Given the description of an element on the screen output the (x, y) to click on. 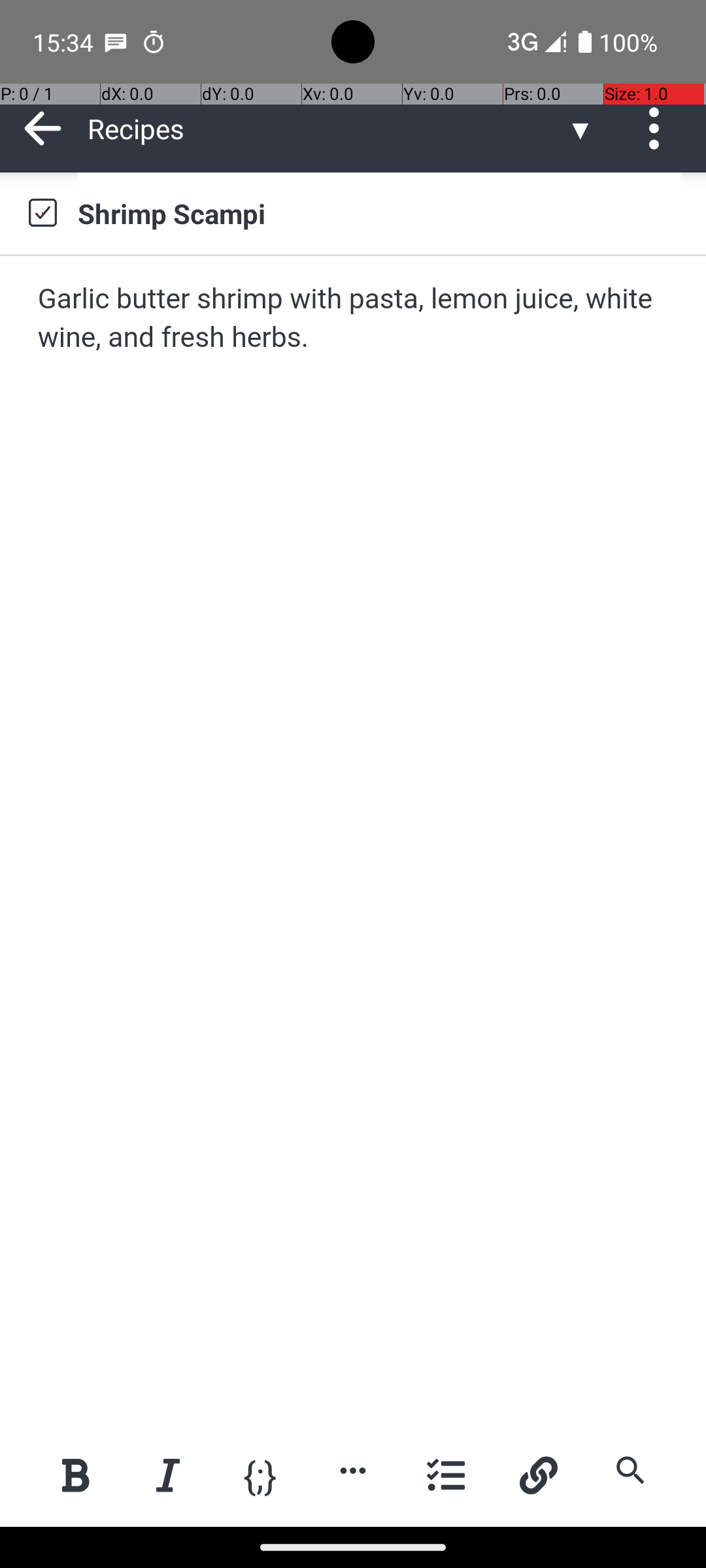
Shrimp Scampi Element type: android.widget.EditText (378, 213)
Garlic butter shrimp with pasta, lemon juice, white wine, and fresh herbs. Element type: android.widget.EditText (354, 318)
